Given the description of an element on the screen output the (x, y) to click on. 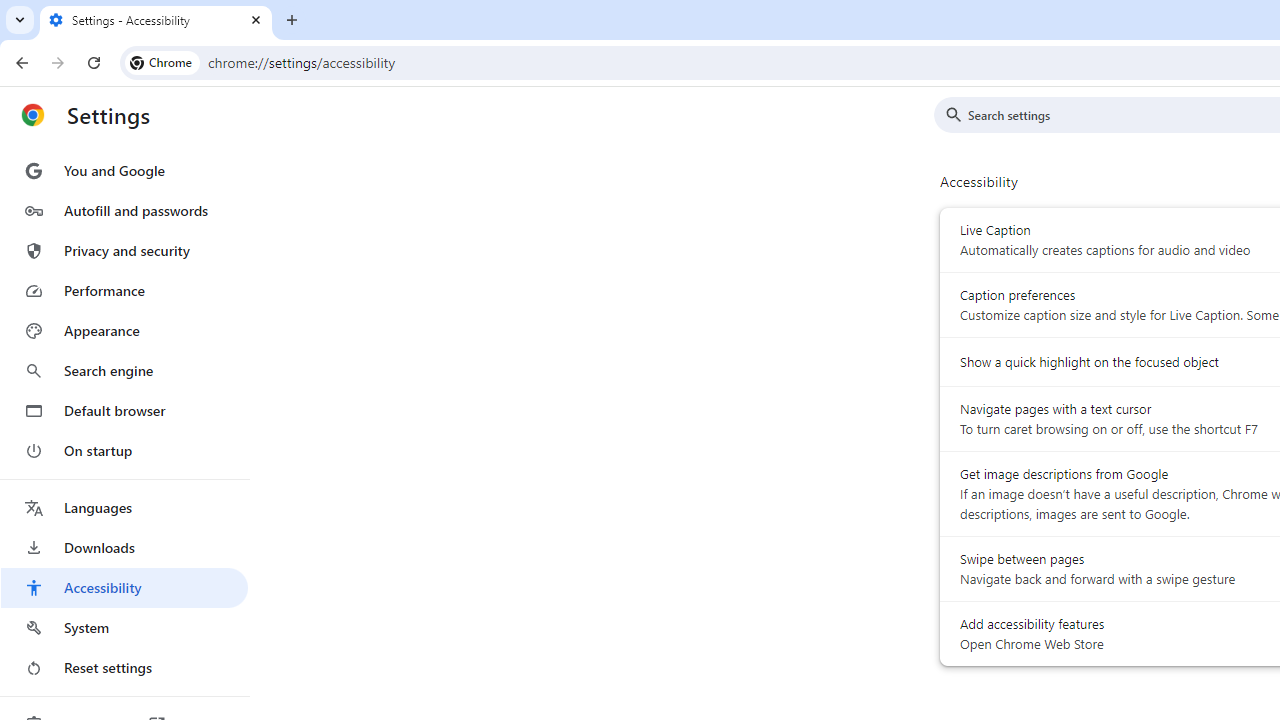
Privacy and security (124, 250)
Downloads (124, 547)
Languages (124, 507)
On startup (124, 450)
Reset settings (124, 668)
Settings - Accessibility (156, 20)
